Given the description of an element on the screen output the (x, y) to click on. 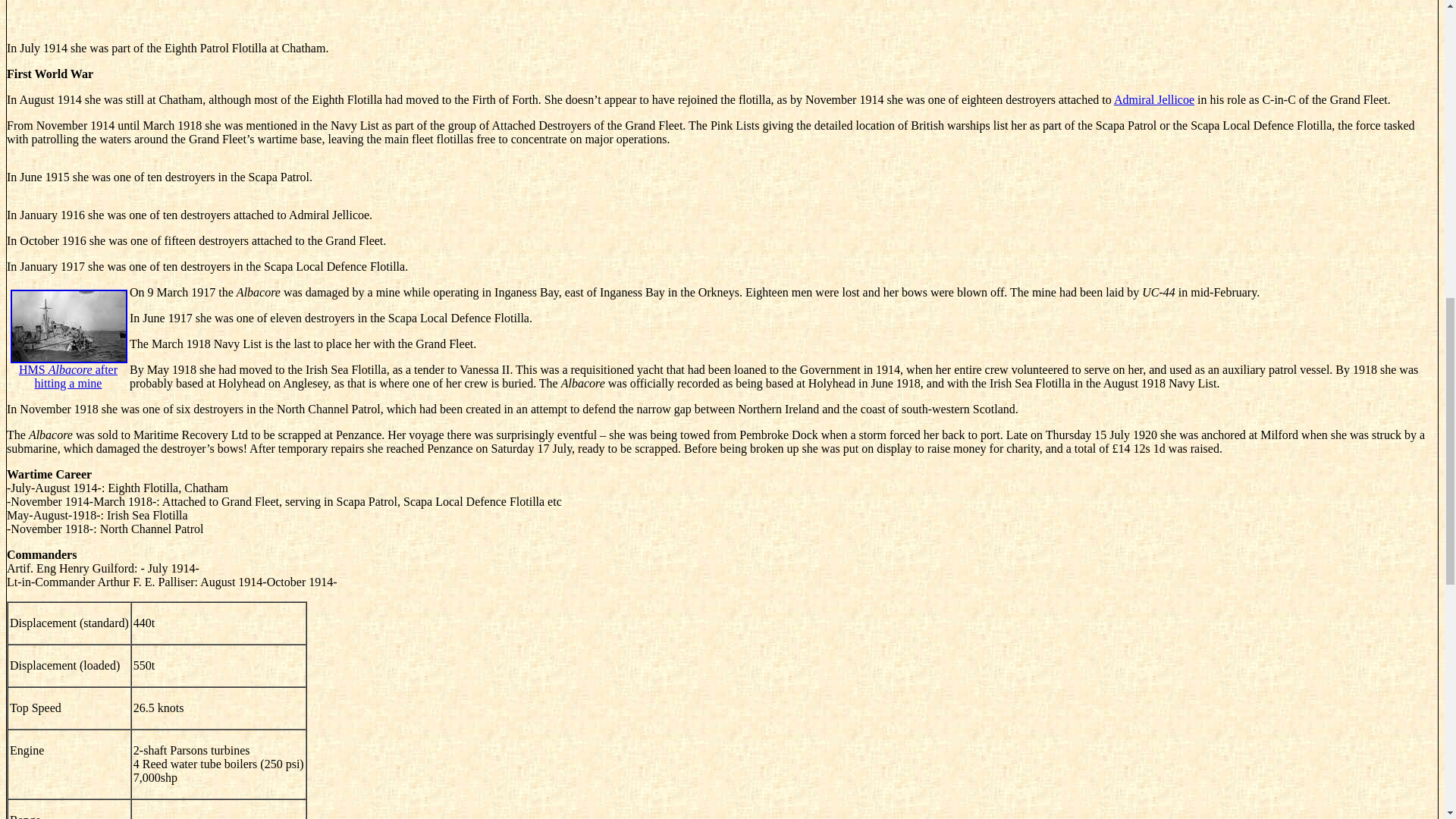
Admiral Jellicoe (1153, 99)
Advertisement (721, 14)
HMS Albacore after hitting a mine  (69, 353)
HMS Albacore after hitting a mine (69, 353)
